Given the description of an element on the screen output the (x, y) to click on. 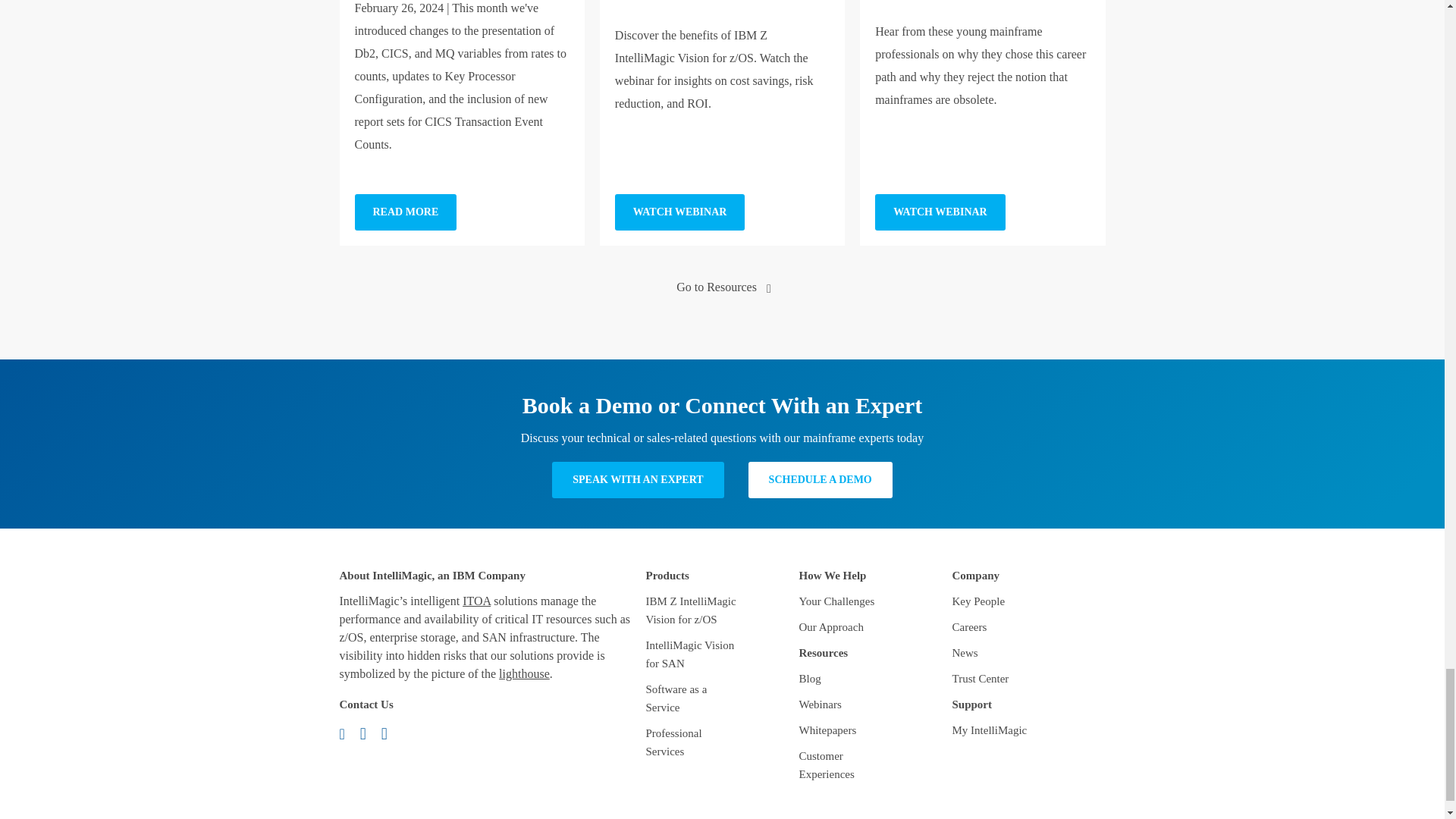
call (368, 732)
Schedule a Demo (820, 479)
email (347, 732)
Speak with an Expert (637, 479)
